Given the description of an element on the screen output the (x, y) to click on. 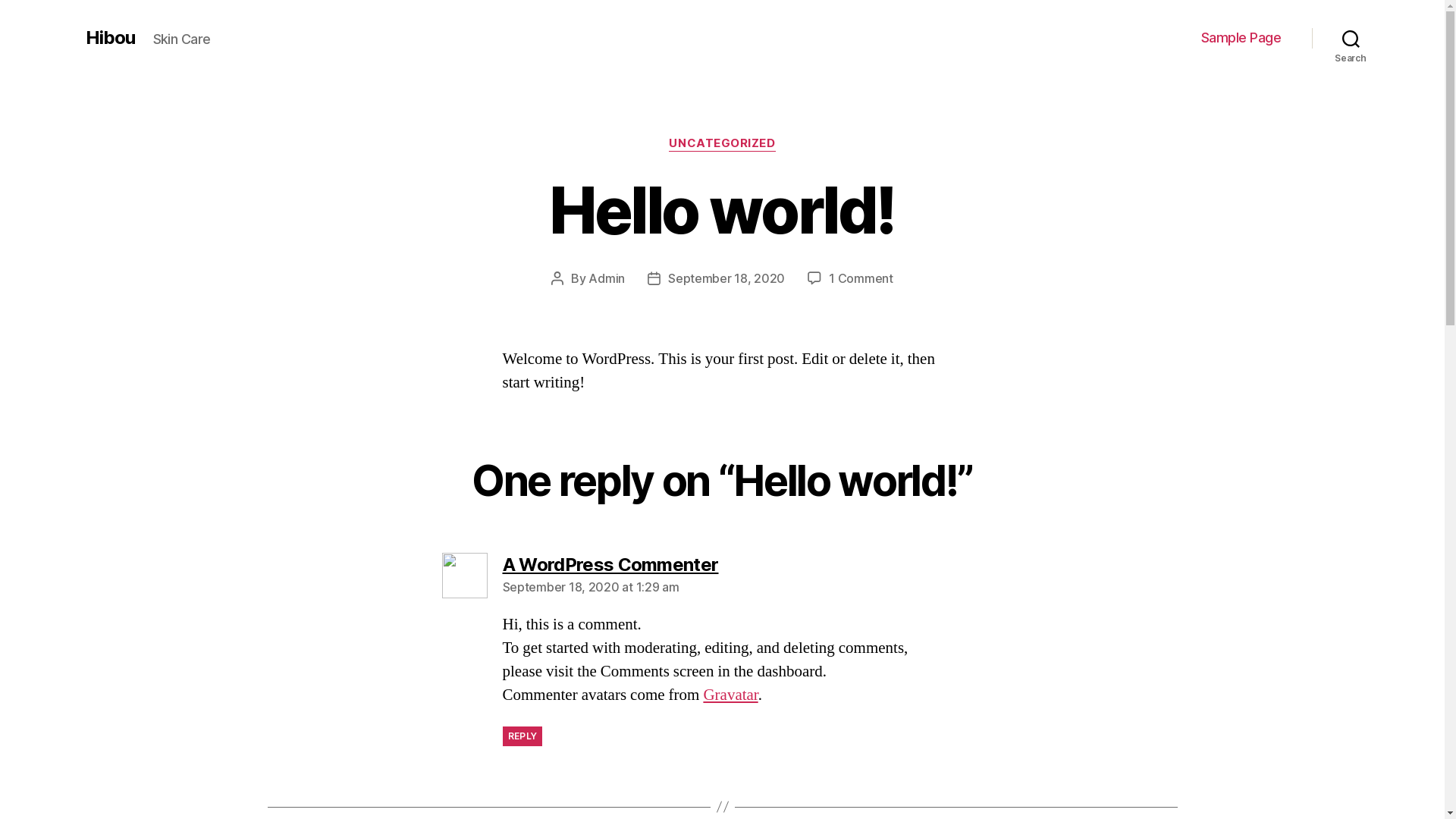
REPLY Element type: text (522, 736)
Search Element type: text (1350, 37)
Sample Page Element type: text (1241, 37)
1 Comment
on Hello world! Element type: text (860, 277)
UNCATEGORIZED Element type: text (721, 143)
Admin Element type: text (606, 277)
September 18, 2020 at 1:29 am Element type: text (590, 586)
Gravatar Element type: text (729, 694)
Hibou Element type: text (109, 37)
A WordPress Commenter
says: Element type: text (610, 564)
September 18, 2020 Element type: text (726, 277)
